Given the description of an element on the screen output the (x, y) to click on. 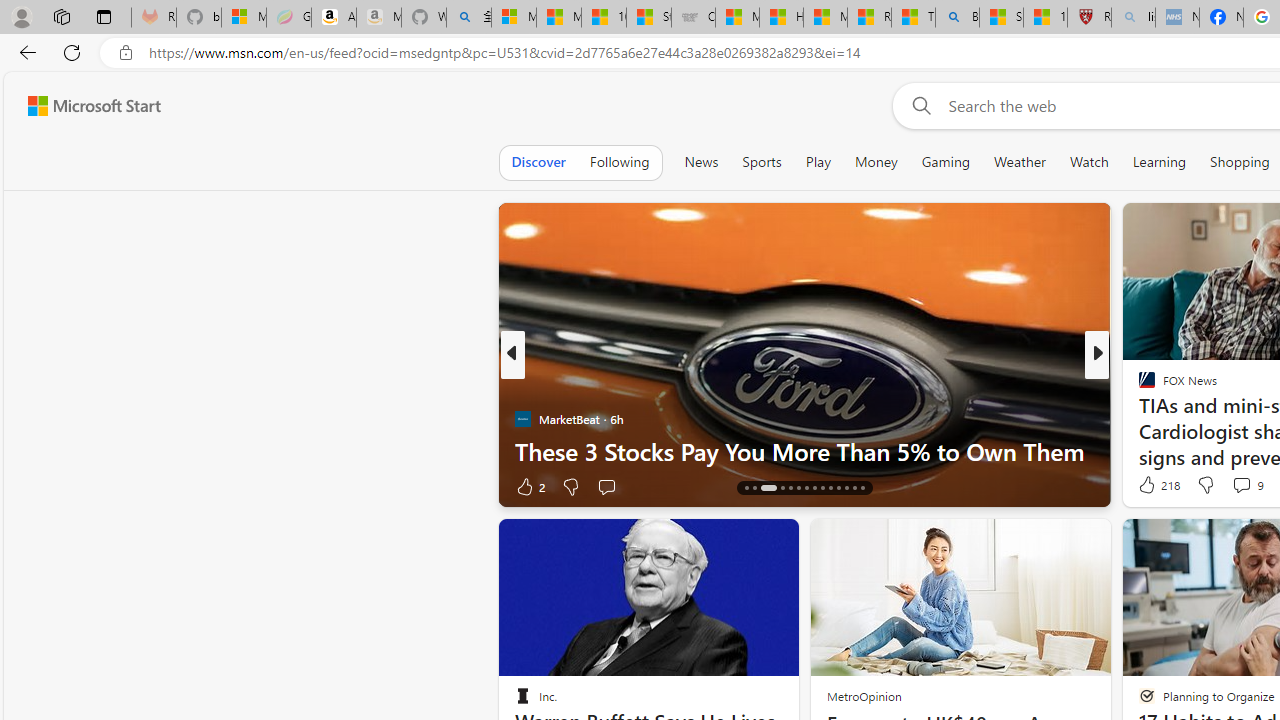
400 Like (1151, 486)
HowToGeek (1138, 418)
78 Like (1149, 486)
AutomationID: tab-28 (861, 487)
View comments 5 Comment (1234, 486)
View comments 167 Comment (1234, 485)
View comments 167 Comment (1247, 486)
MetroOpinion (863, 696)
